Given the description of an element on the screen output the (x, y) to click on. 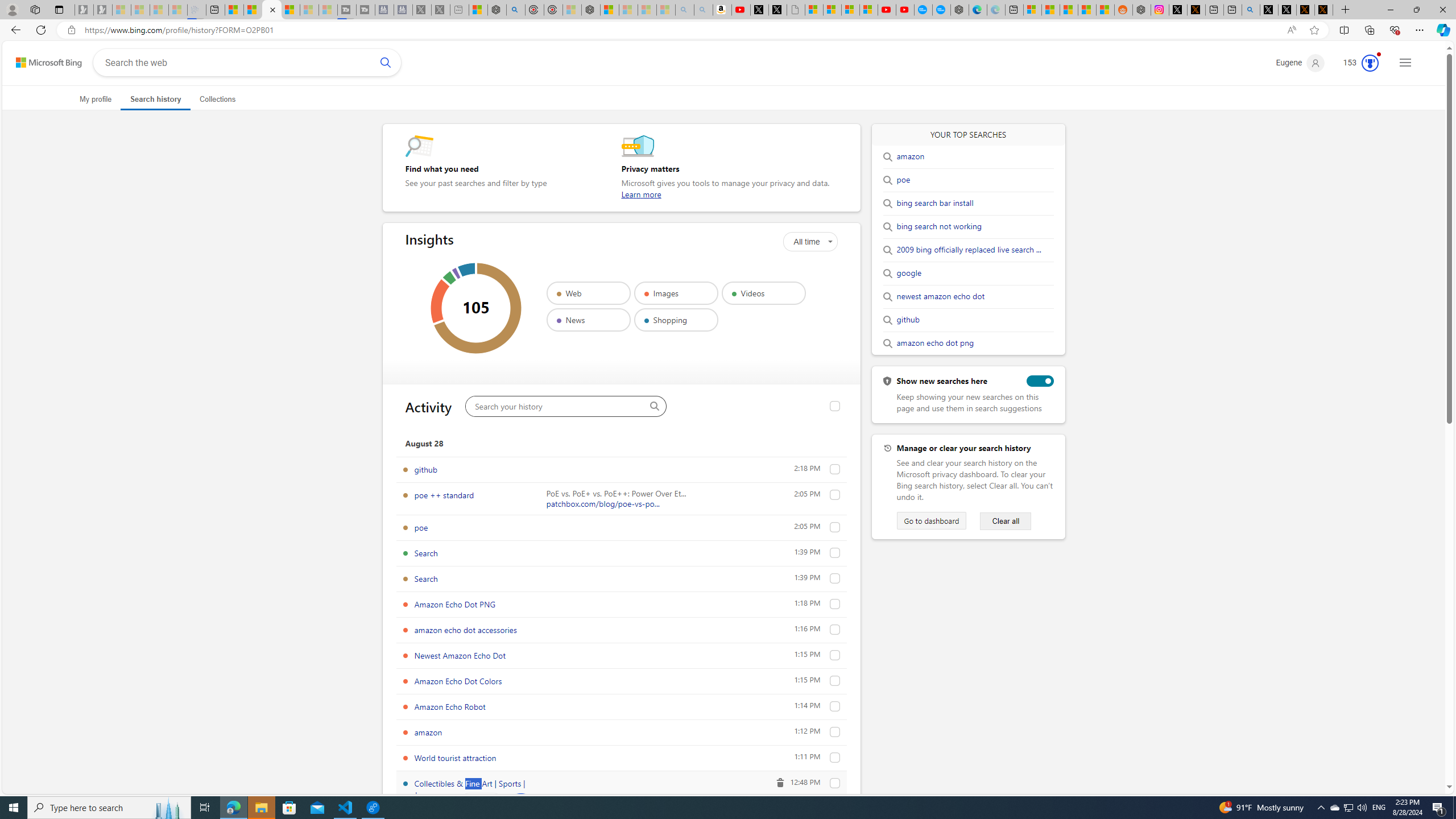
Search (834, 578)
Amazon Echo Dot PNG (454, 603)
X Privacy Policy (1324, 9)
amazon (834, 732)
Newsletter Sign Up - Sleeping (102, 9)
Collections (217, 99)
Minimize (1390, 9)
Amazon Echo Dot Colors (457, 680)
Nordace - Nordace has arrived Hong Kong (960, 9)
Search button (385, 61)
YouTube Kids - An App Created for Kids to Explore Content (904, 9)
